Given the description of an element on the screen output the (x, y) to click on. 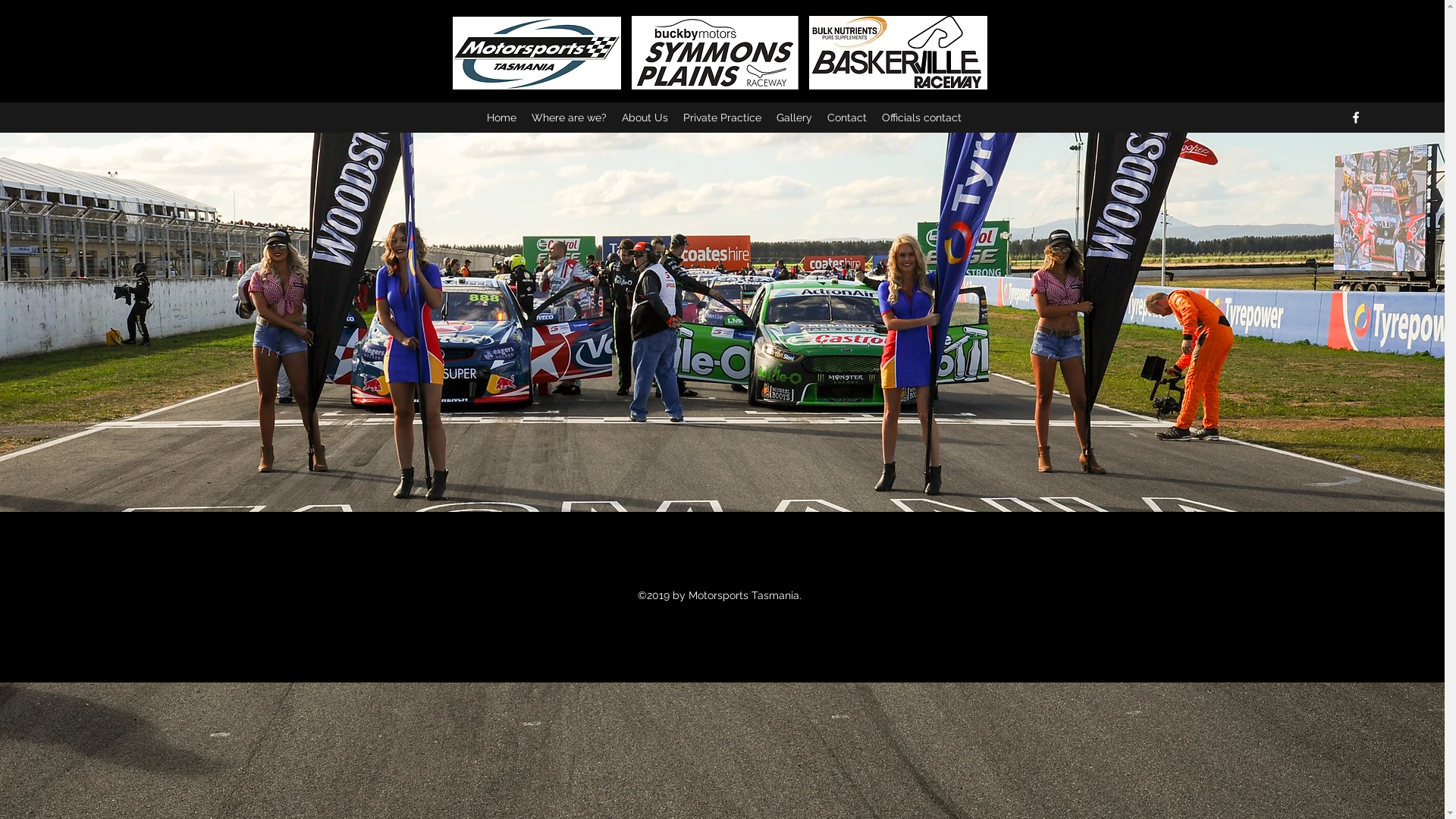
Gallery Element type: text (793, 117)
Private Practice Element type: text (721, 117)
Where are we? Element type: text (569, 117)
Officials contact Element type: text (921, 117)
Contact Element type: text (846, 117)
About Us Element type: text (644, 117)
Home Element type: text (501, 117)
